Given the description of an element on the screen output the (x, y) to click on. 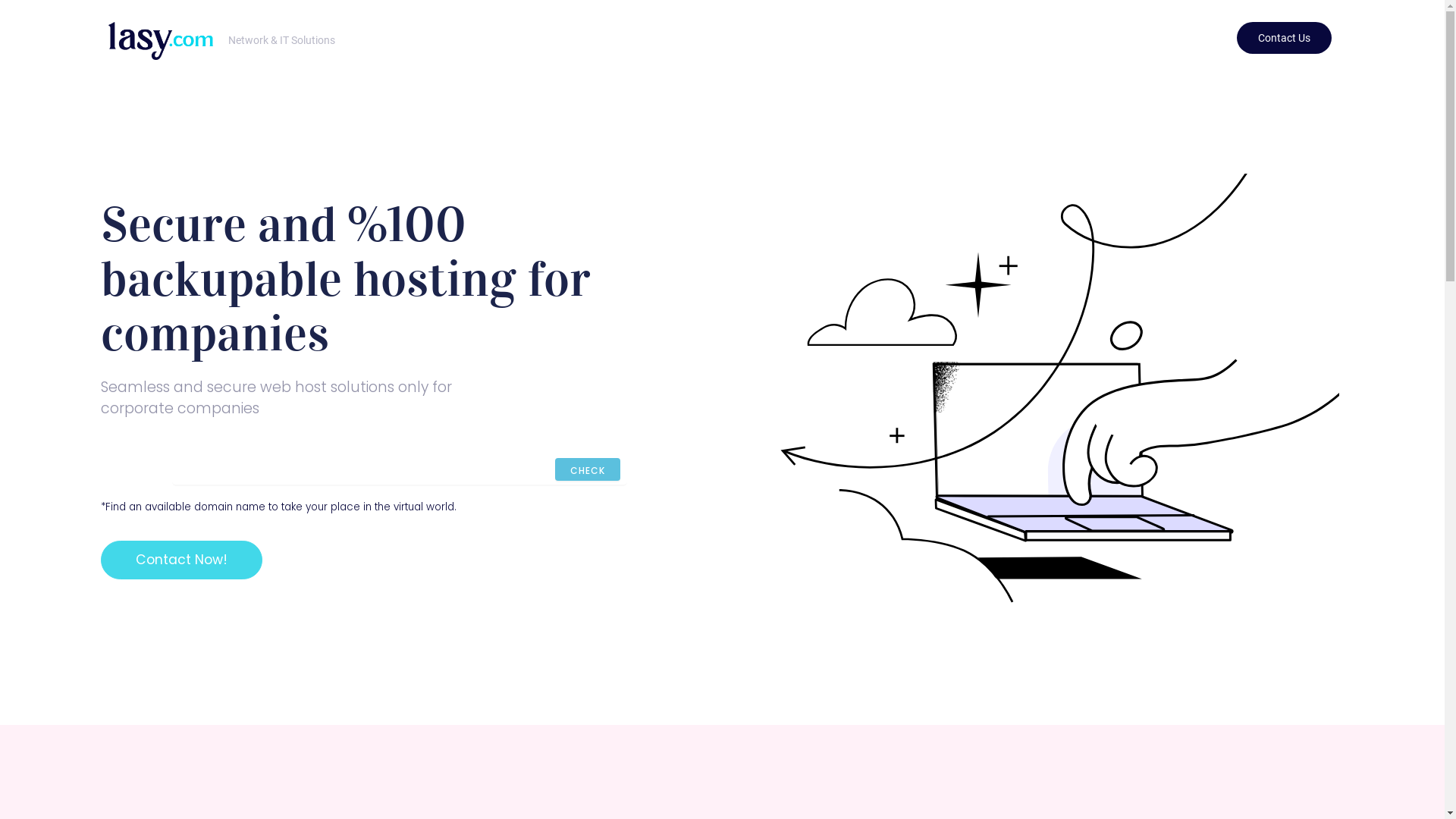
Contact Us Element type: text (1283, 37)
Contact Now! Element type: text (181, 559)
CHECK Element type: text (587, 469)
